Given the description of an element on the screen output the (x, y) to click on. 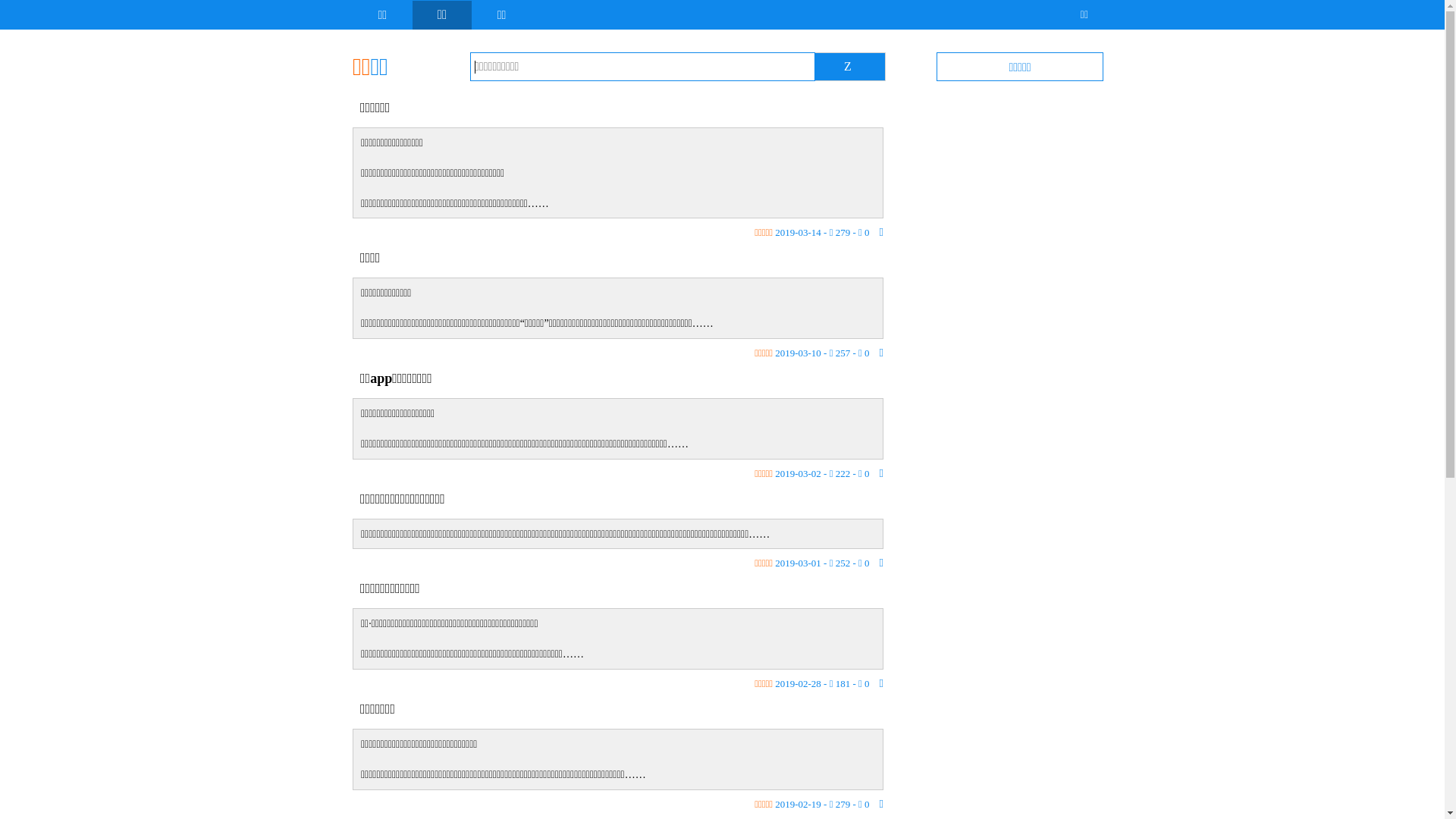
Z Element type: text (847, 66)
